Given the description of an element on the screen output the (x, y) to click on. 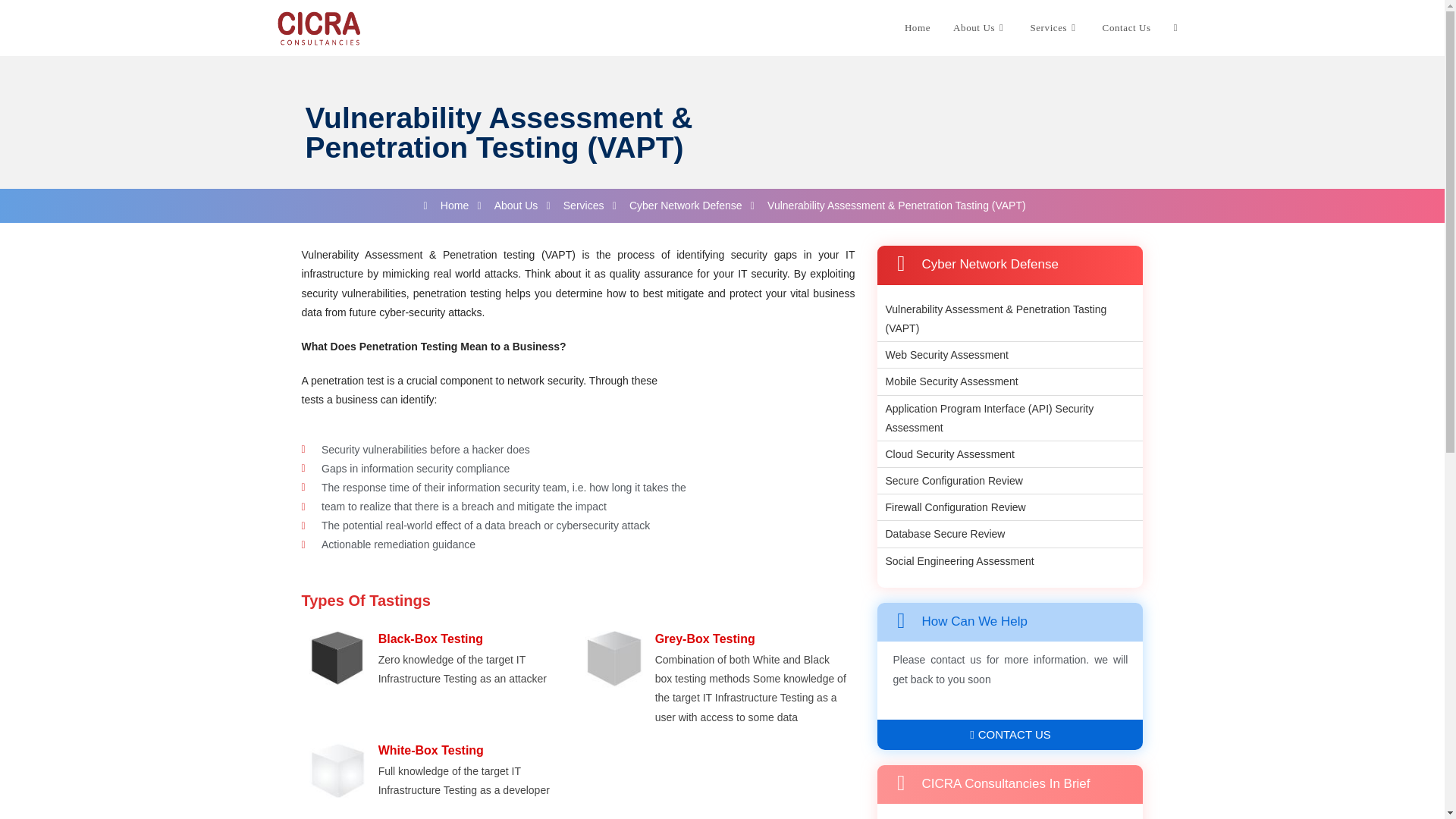
Firewall Configuration Review (951, 506)
Database Secure Review (940, 533)
Mobile Security Assessment (947, 381)
Web Security Assessment (942, 354)
Social Engineering Assessment (955, 561)
Secure Configuration Review (949, 480)
About Us (979, 28)
Services (1053, 28)
CONTACT US (1009, 734)
Cloud Security Assessment (945, 454)
Contact Us (1125, 28)
